Given the description of an element on the screen output the (x, y) to click on. 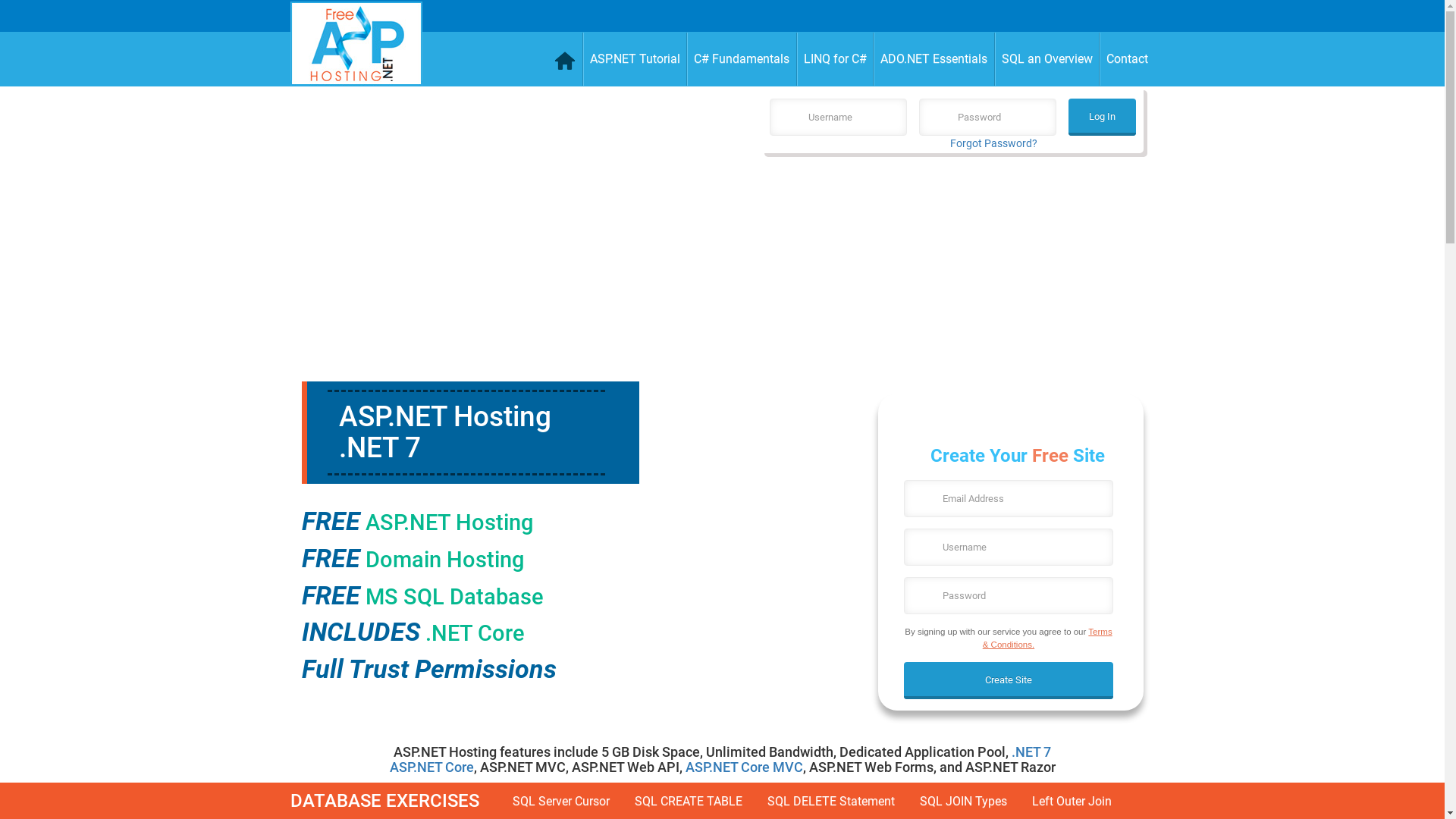
Forgot Password? Element type: text (993, 143)
ADO.NET Essentials Element type: text (933, 58)
Log In Element type: text (1101, 116)
Contact Element type: text (1126, 58)
Check User Element type: text (30, 18)
ASP.NET Tutorial Element type: text (634, 58)
SQL an Overview Element type: text (1047, 58)
.NET 7 Element type: text (1031, 751)
ASP.NET Hosting .NET 7 Element type: text (444, 432)
ASP.NET Core MVC Element type: text (744, 767)
C# Fundamentals Element type: text (742, 58)
Terms & Conditions. Element type: text (1047, 637)
Advertisement Element type: hover (950, 274)
ASP.NET Core Element type: text (431, 767)
Create Site Element type: text (1008, 680)
LINQ for C# Element type: text (834, 58)
